Given the description of an element on the screen output the (x, y) to click on. 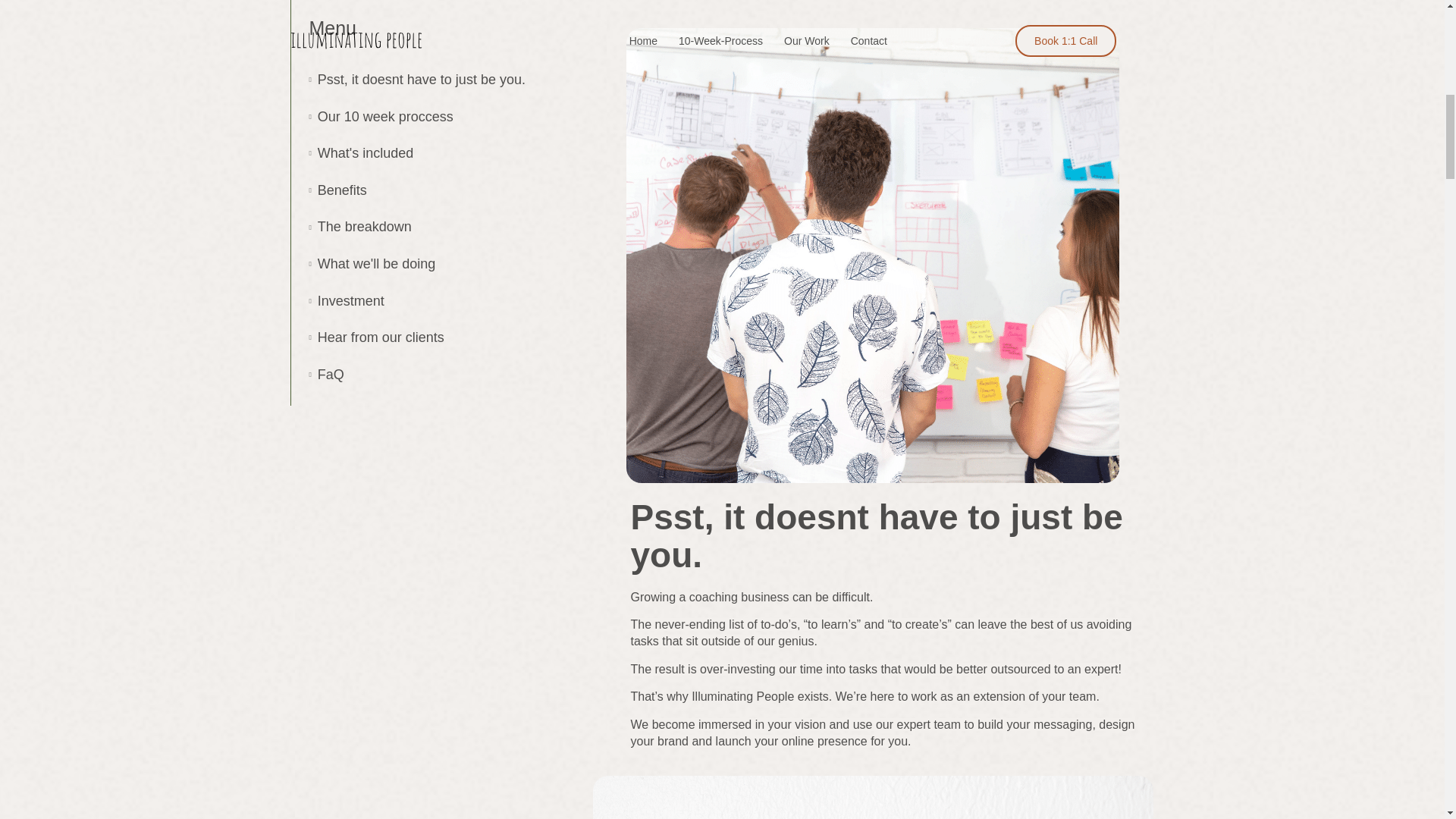
What we'll be doing (376, 264)
Investment (350, 301)
Hear from our clients (380, 337)
Psst, it doesnt have to just be you. (421, 80)
Our 10 week proccess (384, 117)
Benefits (341, 191)
The breakdown (364, 227)
What's included (365, 153)
